Given the description of an element on the screen output the (x, y) to click on. 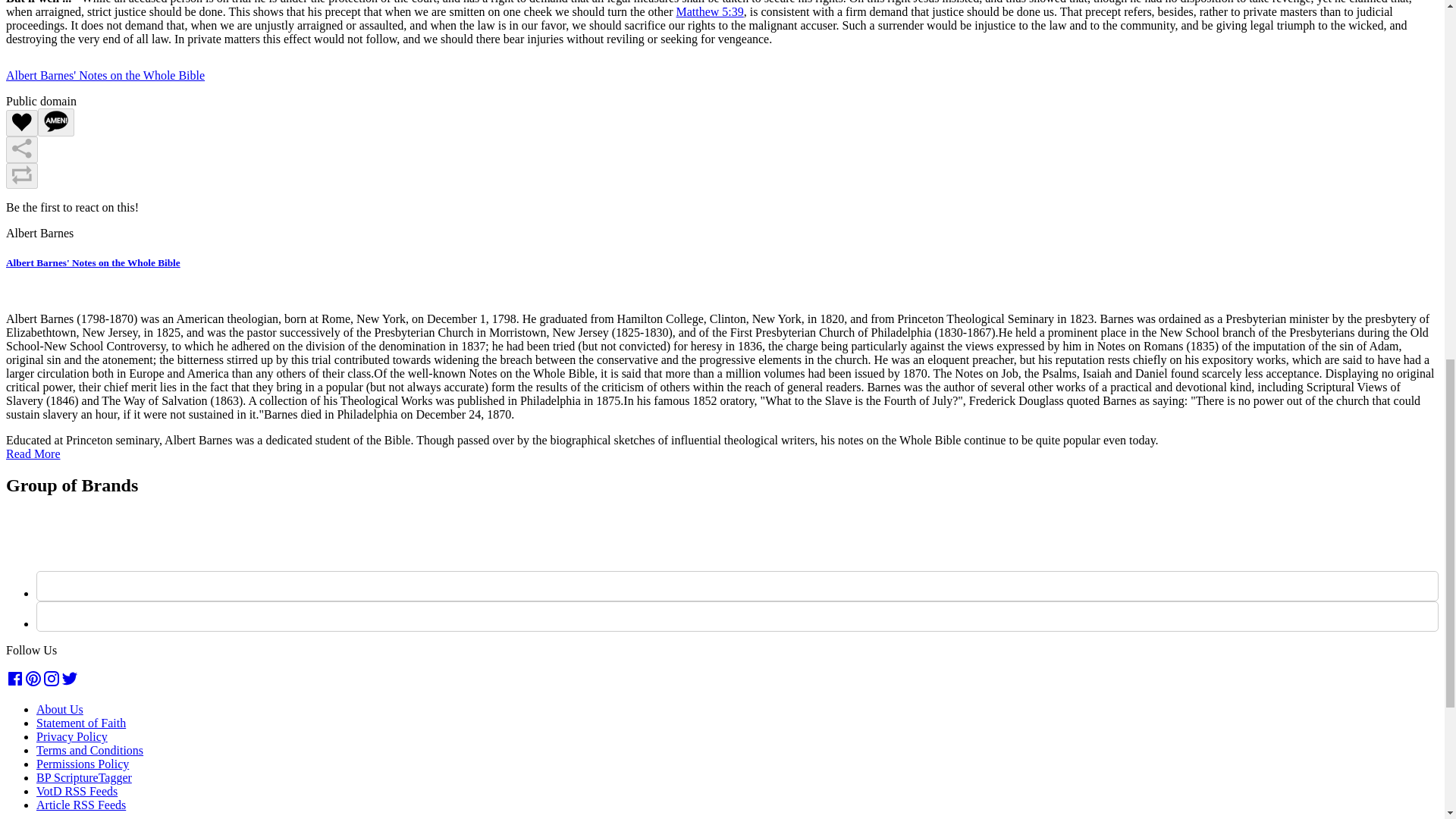
Share (21, 149)
Store (57, 29)
Community (74, 9)
Amen (55, 122)
Repost (21, 175)
Bible Passages - Matthew 5:39 - click to view detail (708, 11)
Like (21, 122)
